Given the description of an element on the screen output the (x, y) to click on. 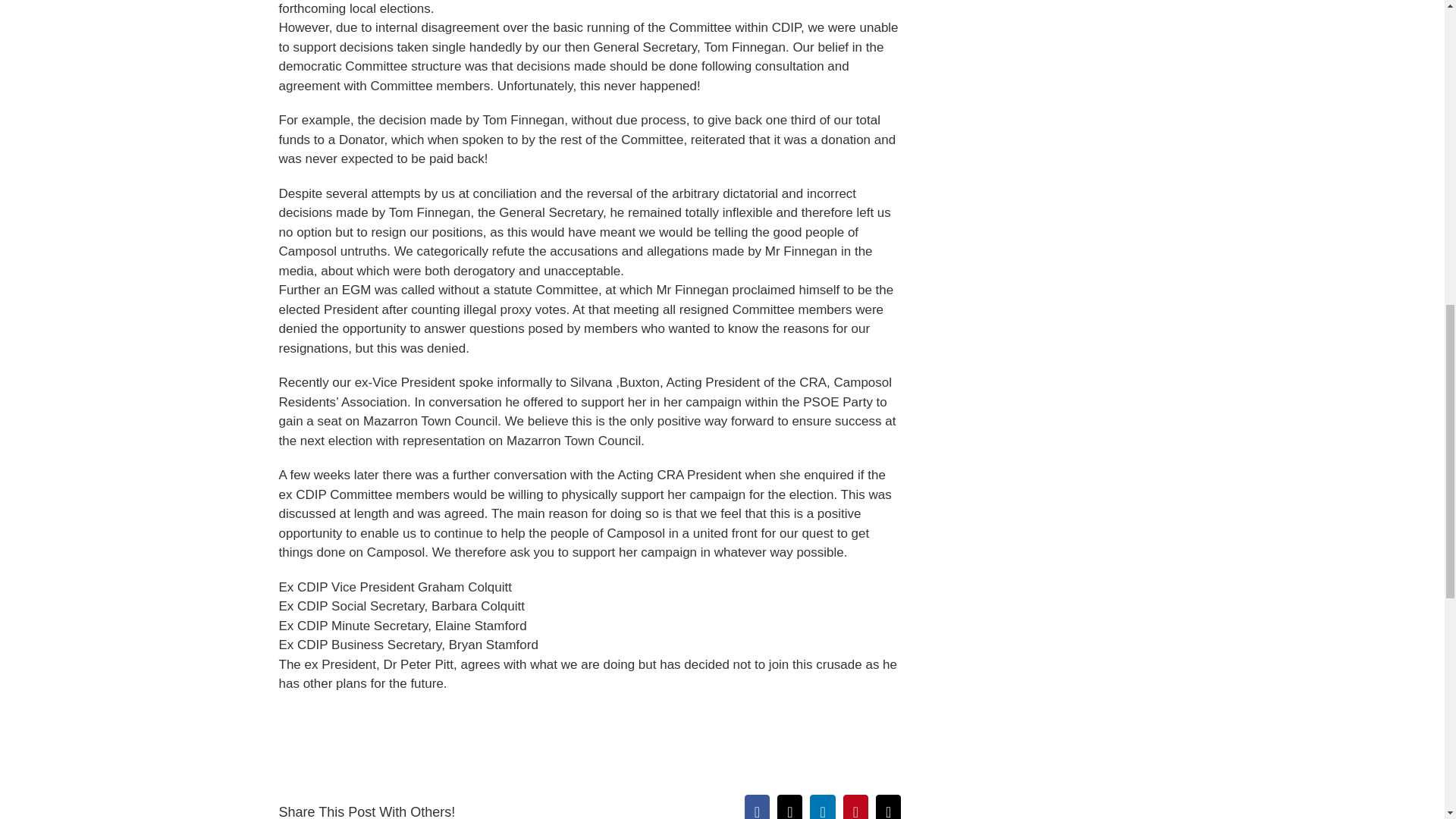
Pinterest (855, 806)
Facebook (757, 806)
Facebook (757, 806)
Email (888, 806)
X (789, 806)
Email (888, 806)
X (789, 806)
LinkedIn (821, 806)
LinkedIn (821, 806)
Pinterest (855, 806)
